Given the description of an element on the screen output the (x, y) to click on. 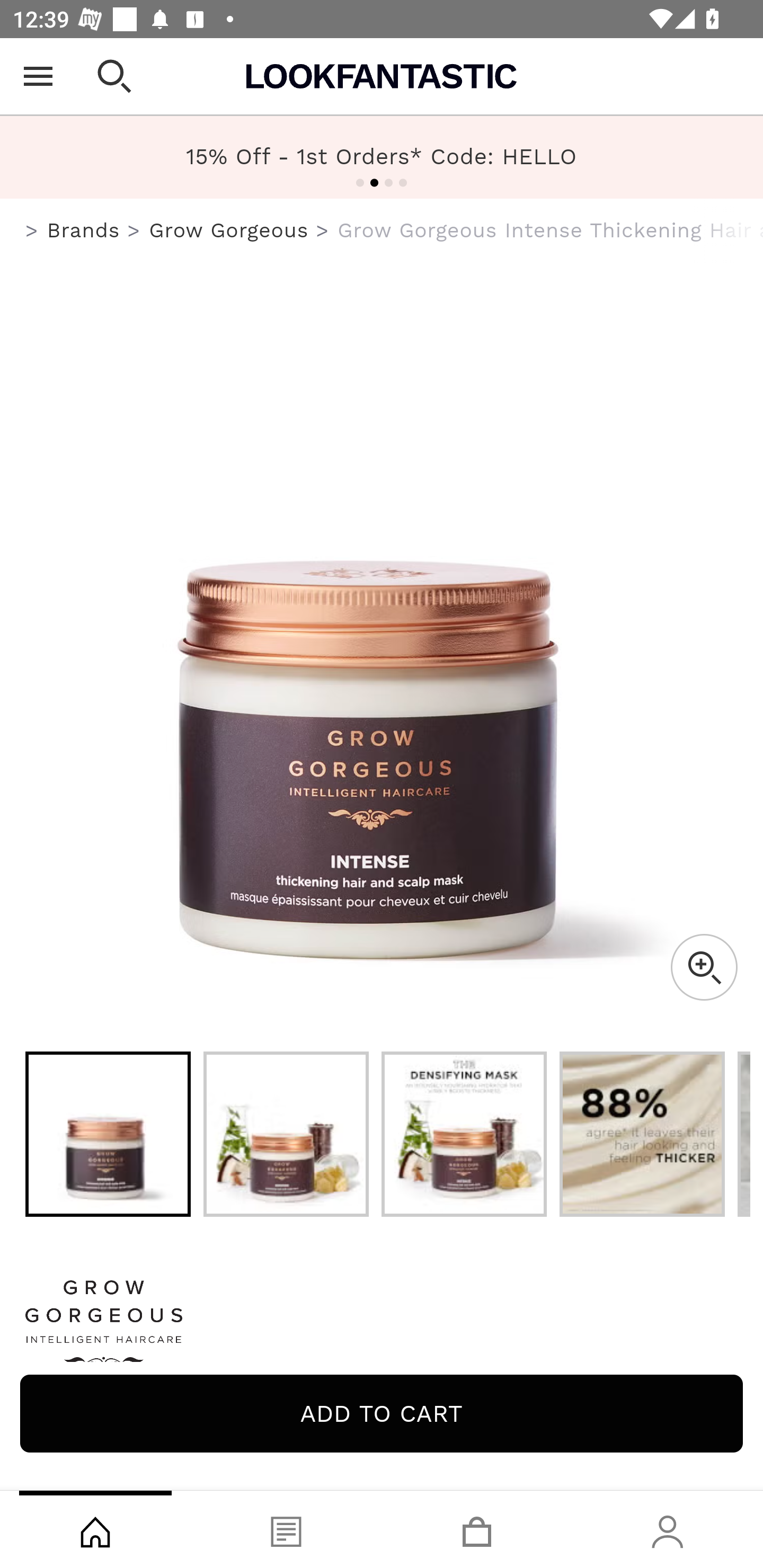
Open Menu (38, 75)
Open search (114, 75)
Lookfantastic USA (381, 75)
FREE US Shipping Over $40 (381, 157)
us.lookfantastic (32, 230)
Brands (82, 230)
Grow Gorgeous (228, 230)
Zoom (703, 966)
Grow Gorgeous (381, 1327)
Add to cart (381, 1413)
Shop, tab, 1 of 4 (95, 1529)
Blog, tab, 2 of 4 (285, 1529)
Basket, tab, 3 of 4 (476, 1529)
Account, tab, 4 of 4 (667, 1529)
